Given the description of an element on the screen output the (x, y) to click on. 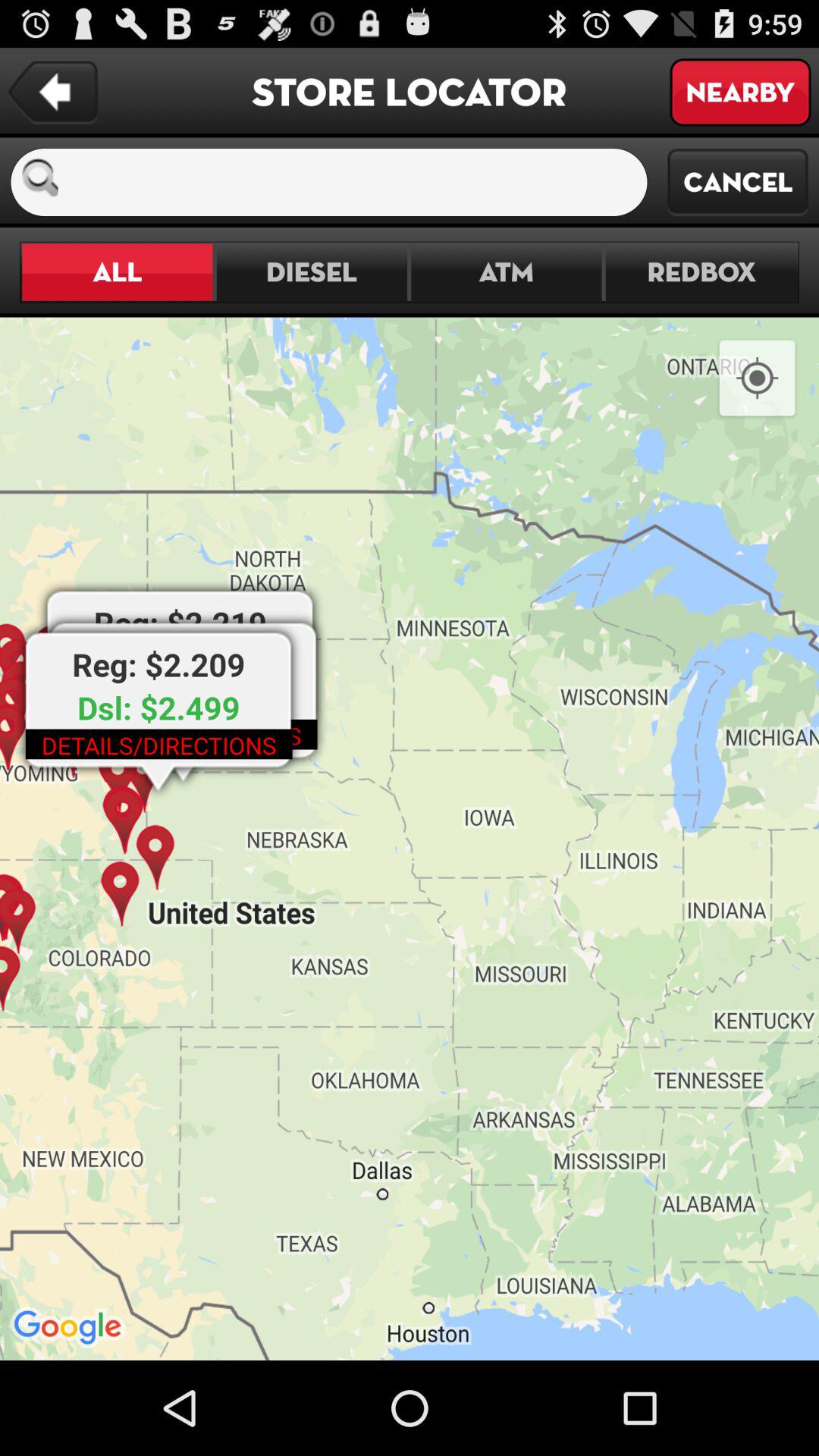
press the cancel (737, 182)
